Given the description of an element on the screen output the (x, y) to click on. 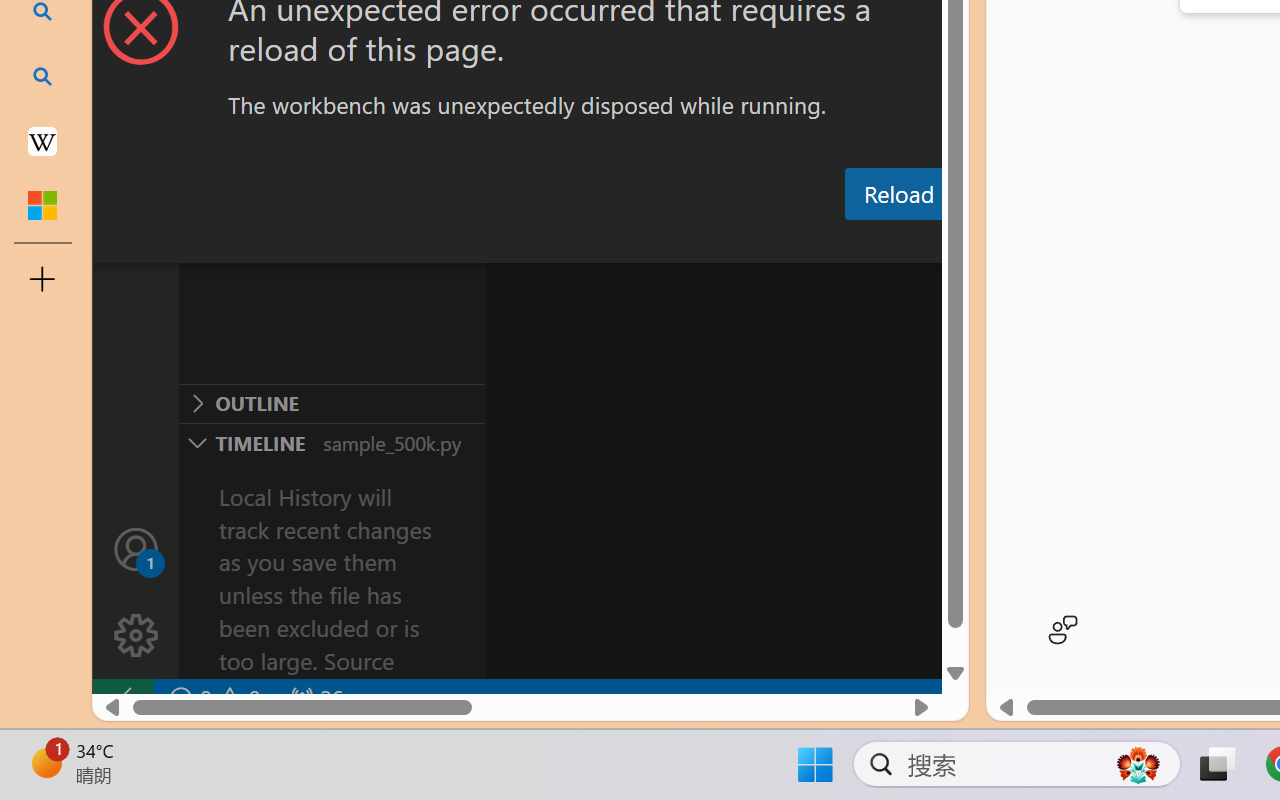
remote (122, 698)
Output (Ctrl+Shift+U) (696, 243)
Earth - Wikipedia (42, 140)
Accounts - Sign in requested (135, 548)
